Given the description of an element on the screen output the (x, y) to click on. 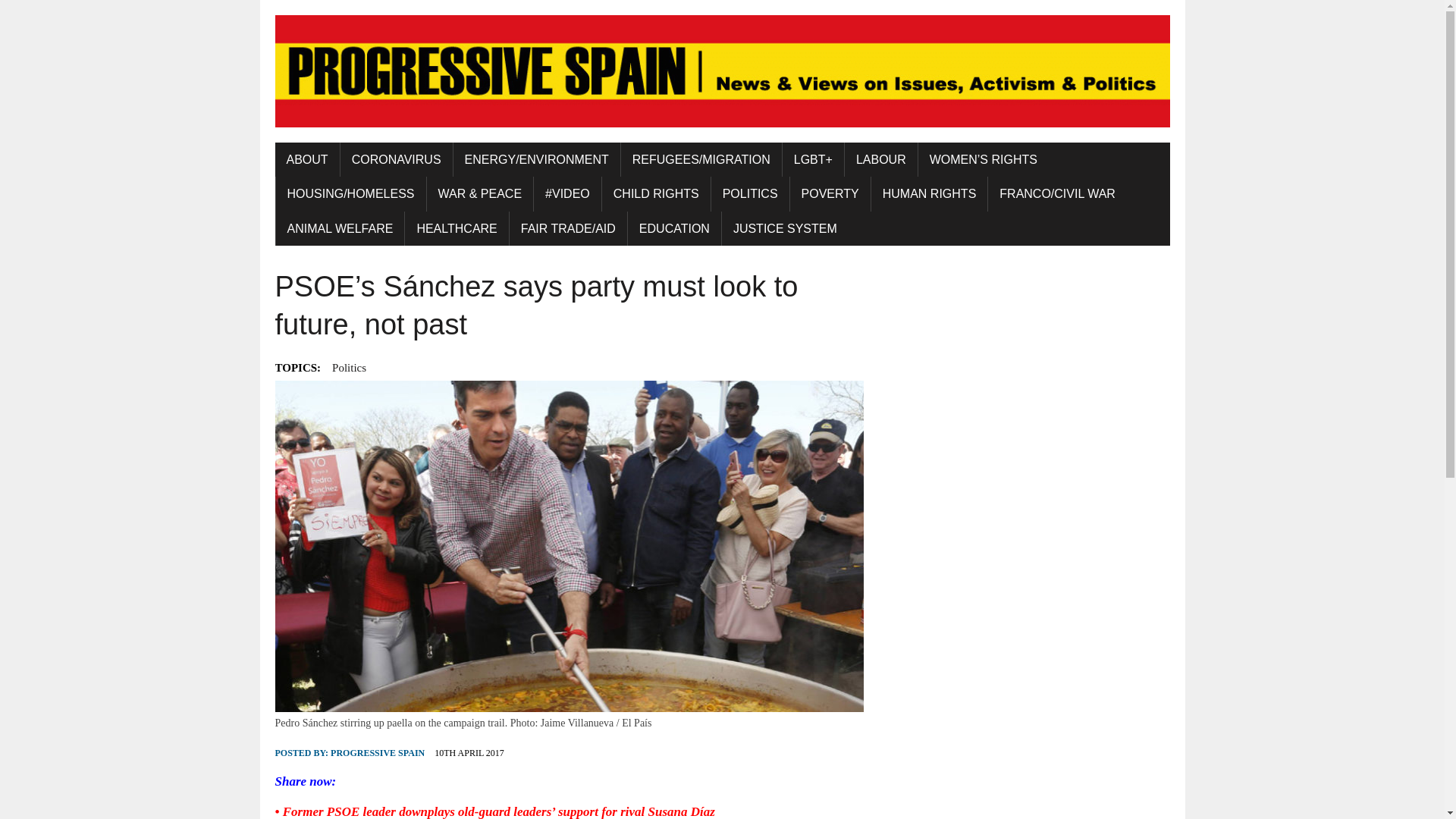
CORONAVIRUS (396, 159)
POVERTY (830, 193)
CHILD RIGHTS (656, 193)
Politics (348, 367)
Progressive Spain (722, 71)
EDUCATION (673, 228)
JUSTICE SYSTEM (785, 228)
ABOUT (307, 159)
LABOUR (880, 159)
HUMAN RIGHTS (929, 193)
PROGRESSIVE SPAIN (377, 752)
POLITICS (750, 193)
ANIMAL WELFARE (340, 228)
HEALTHCARE (456, 228)
